Given the description of an element on the screen output the (x, y) to click on. 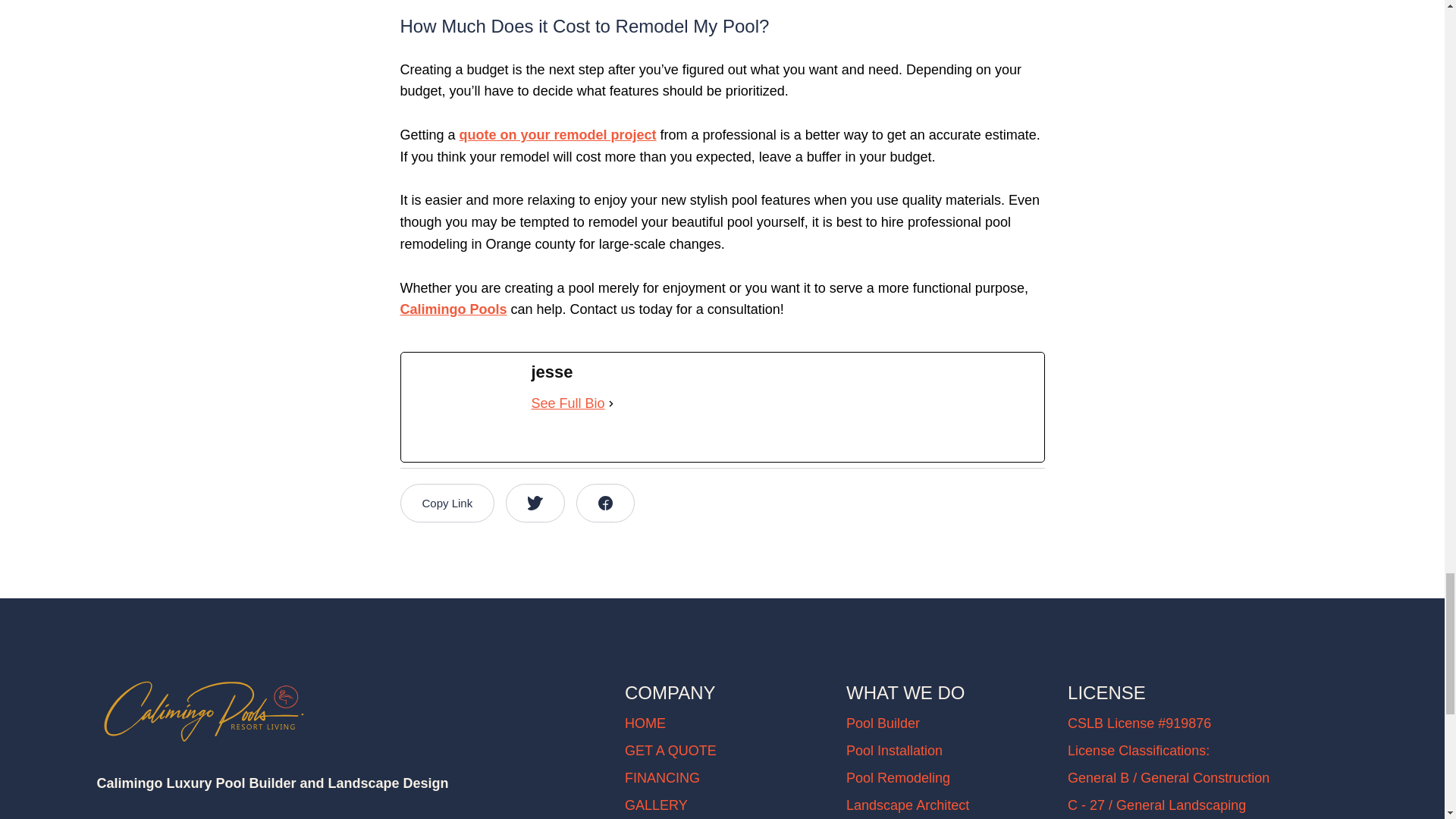
Copy Link (447, 503)
Calimingo Pools (453, 309)
See Full Bio (567, 403)
GET A QUOTE (670, 750)
HOME (644, 723)
FINANCING (662, 777)
quote on your remodel project (558, 134)
GALLERY (655, 805)
